Given the description of an element on the screen output the (x, y) to click on. 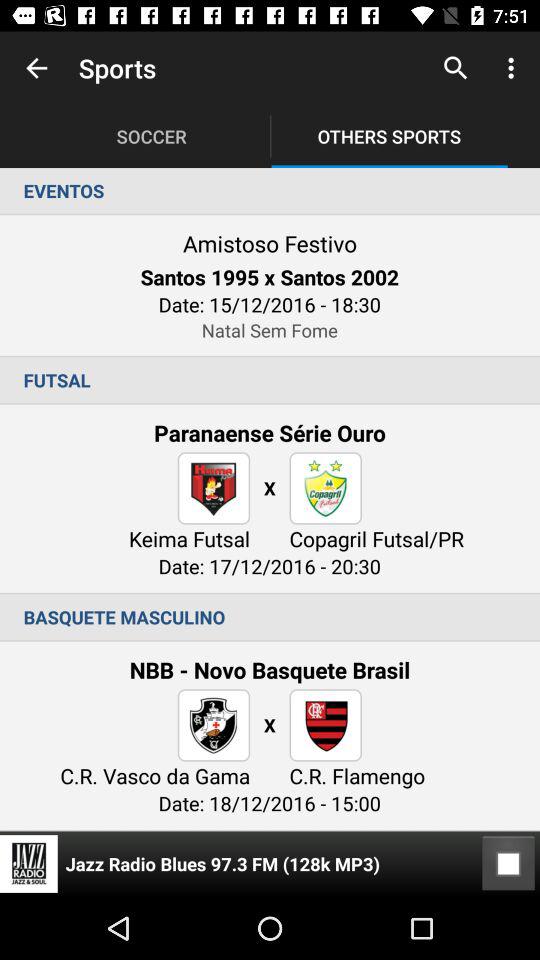
open icon below the basquete masculino (508, 863)
